Given the description of an element on the screen output the (x, y) to click on. 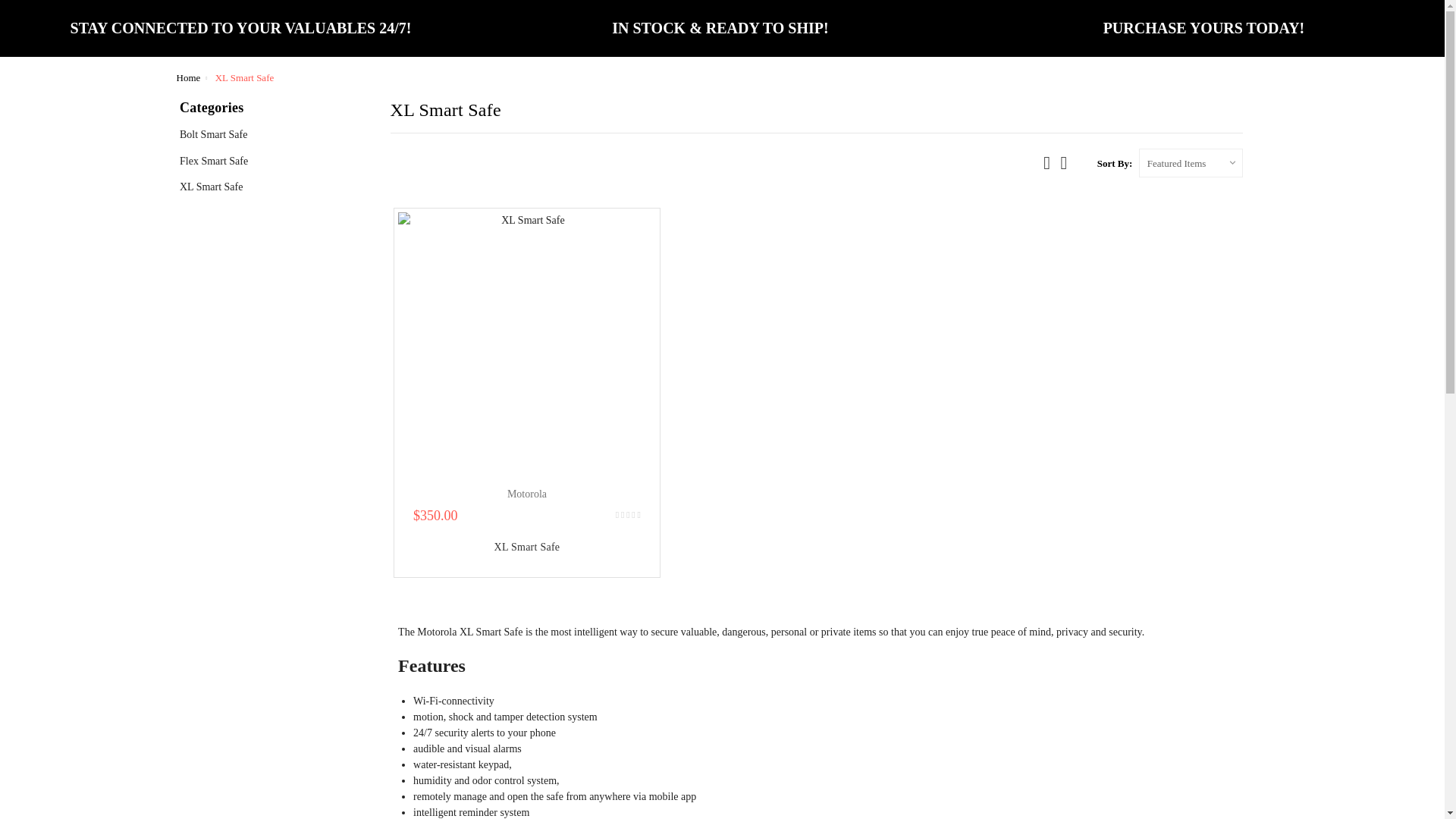
Flex Smart Safe (222, 160)
Bolt Smart Safe (222, 134)
XL Smart Safe (527, 546)
XL Smart Safe (220, 186)
XL Smart Safe (526, 341)
Home (188, 77)
